Given the description of an element on the screen output the (x, y) to click on. 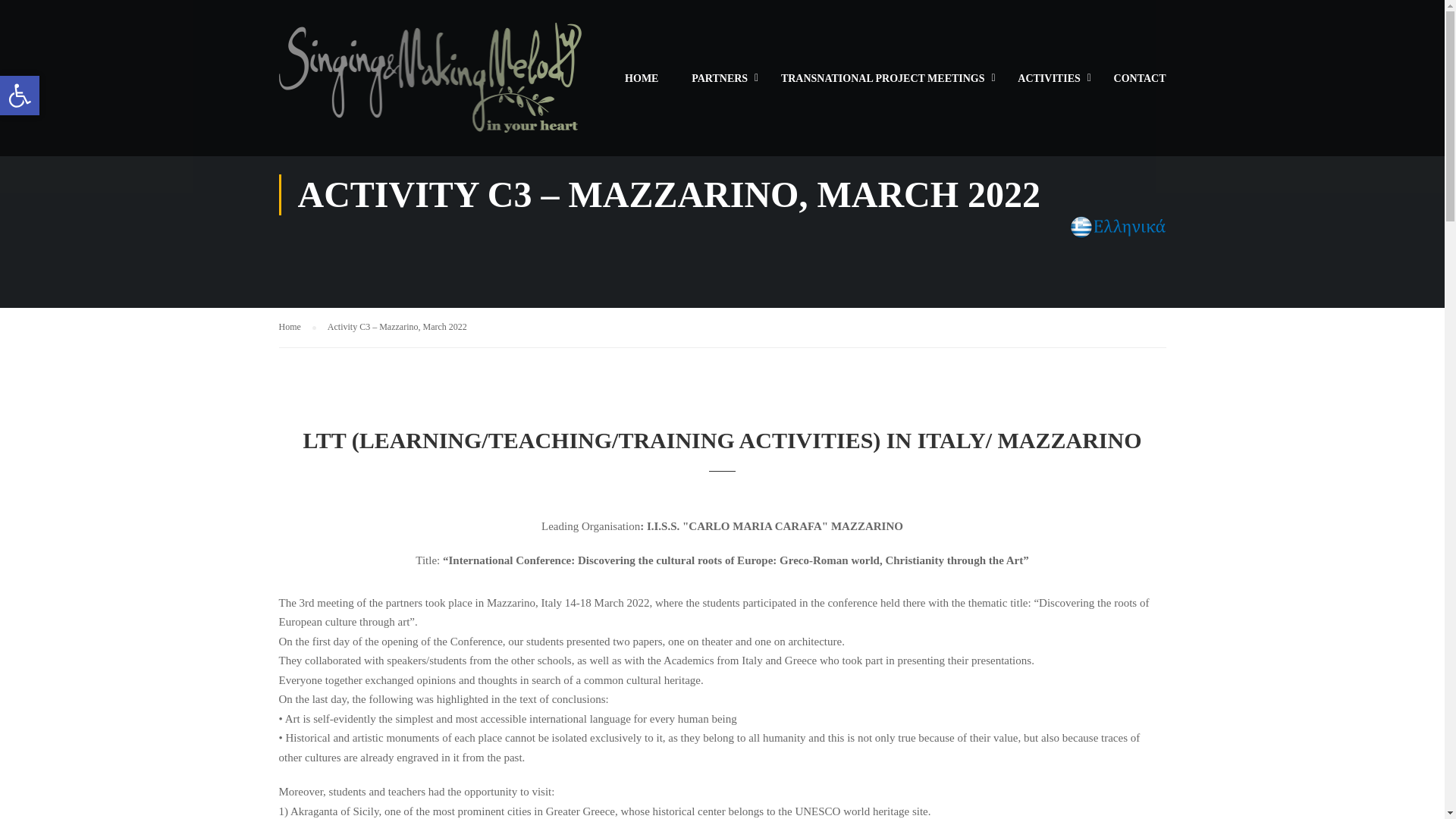
Accessibility Tools (19, 95)
CONTACT (1132, 85)
Home (297, 326)
Home (297, 326)
HOME (641, 85)
